Given the description of an element on the screen output the (x, y) to click on. 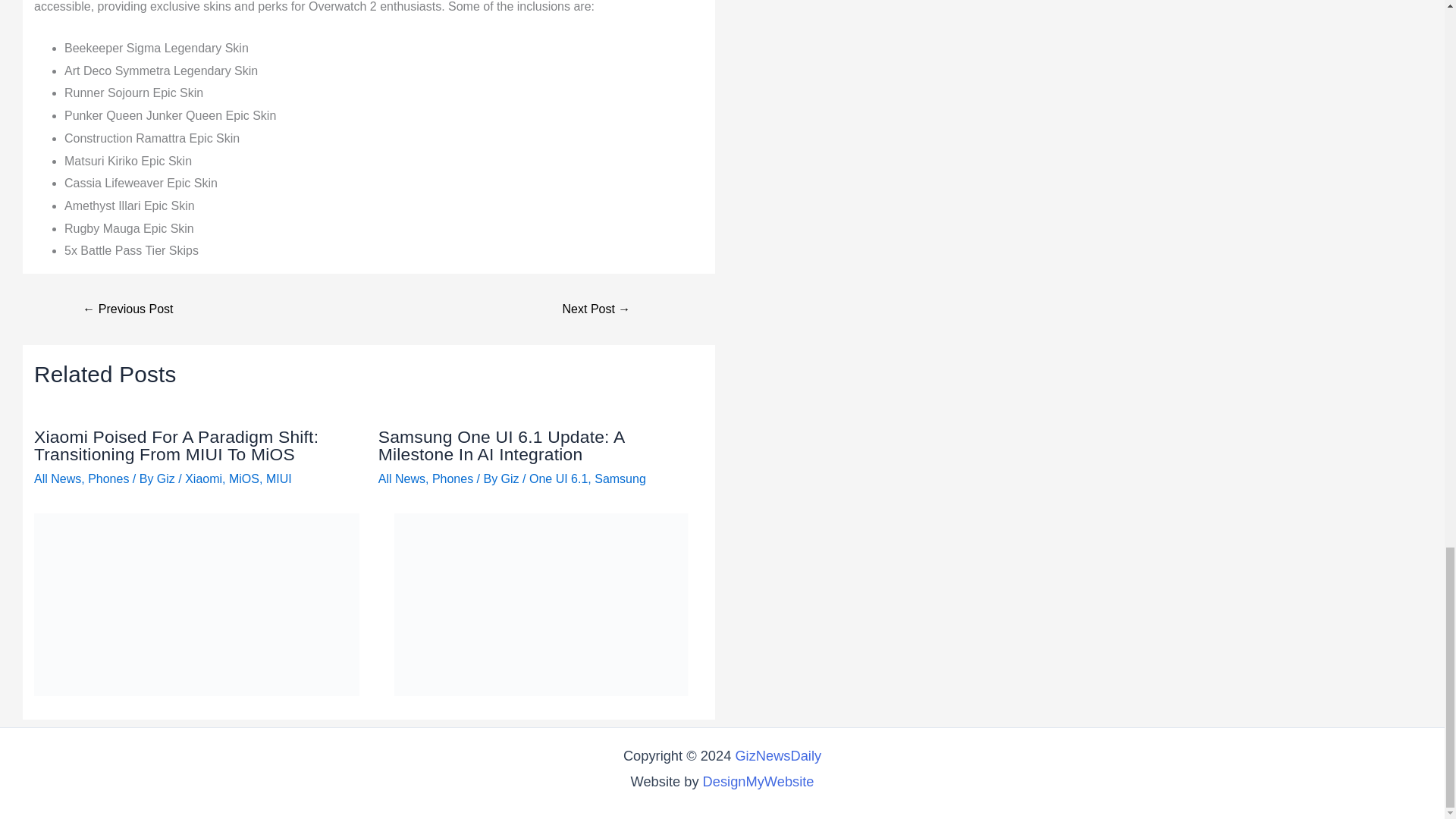
View all posts by Giz (167, 478)
Huawei Tri-Fold Smartphone Set for Release This Year (127, 309)
View all posts by Giz (511, 478)
